Given the description of an element on the screen output the (x, y) to click on. 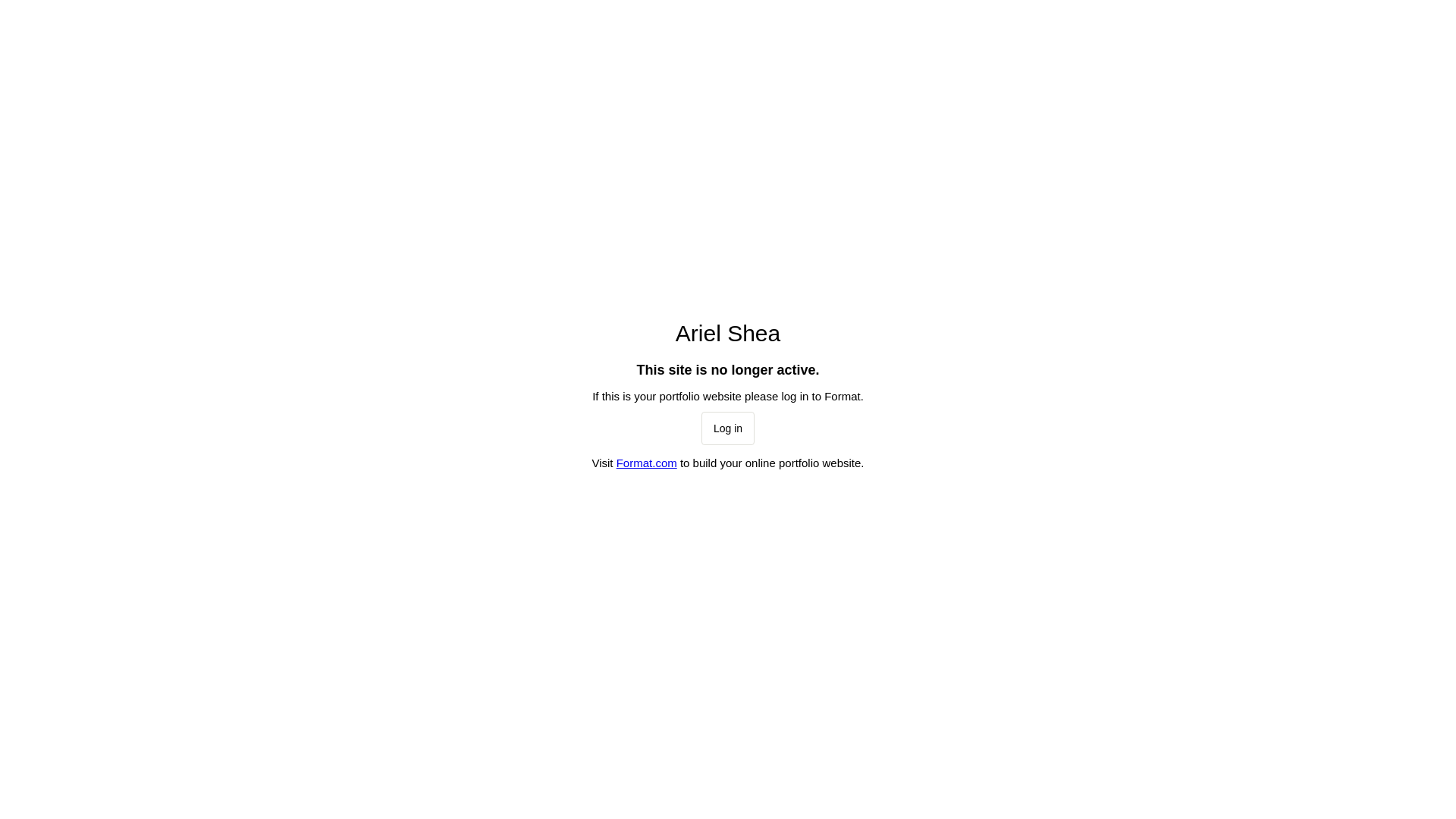
Format.com Element type: text (646, 462)
Log in Element type: text (727, 428)
